Given the description of an element on the screen output the (x, y) to click on. 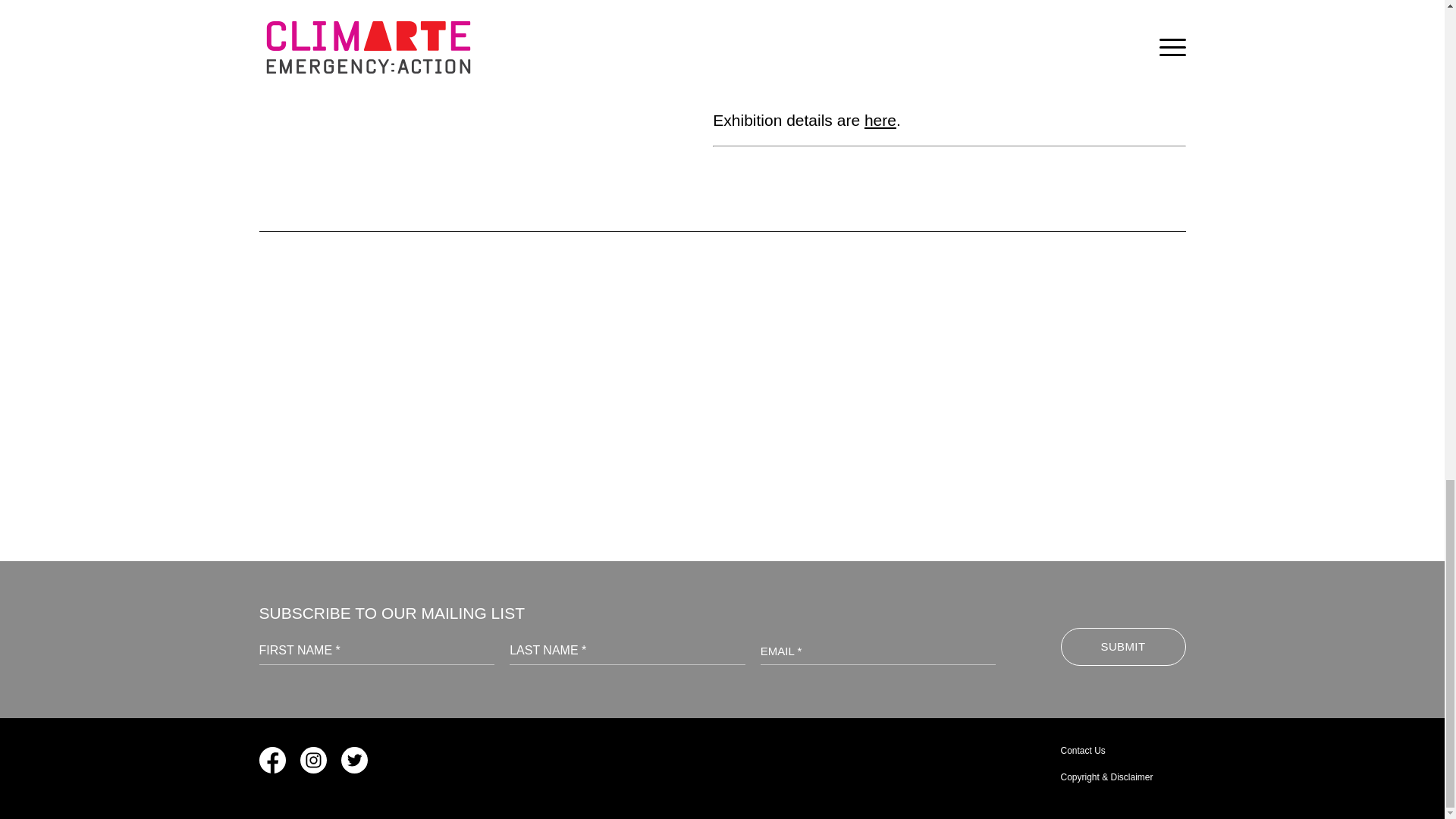
here (880, 119)
Submit (1122, 646)
Contact Us (1082, 750)
Submit (1122, 646)
